Given the description of an element on the screen output the (x, y) to click on. 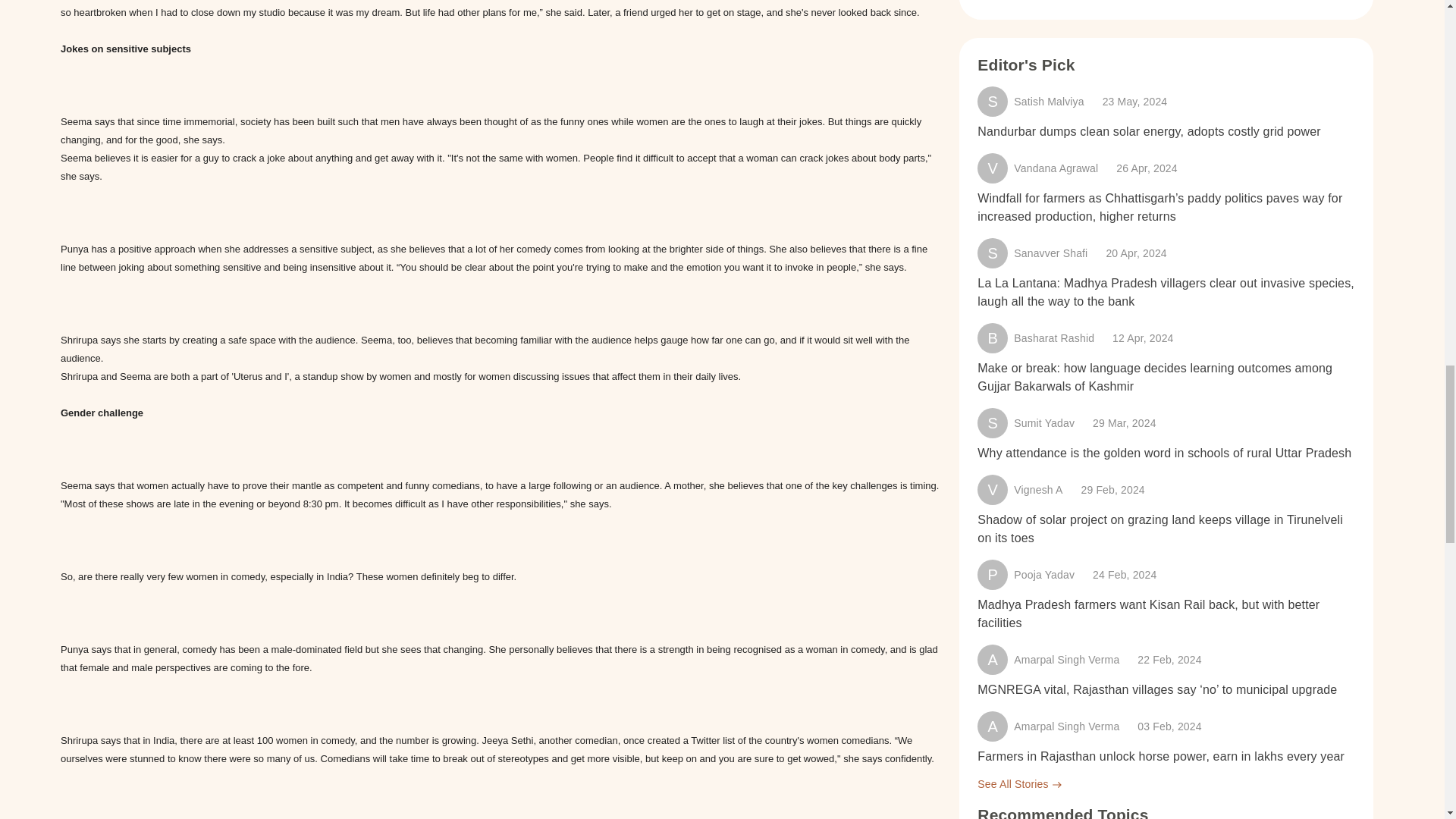
See All Stories  (1165, 784)
